Given the description of an element on the screen output the (x, y) to click on. 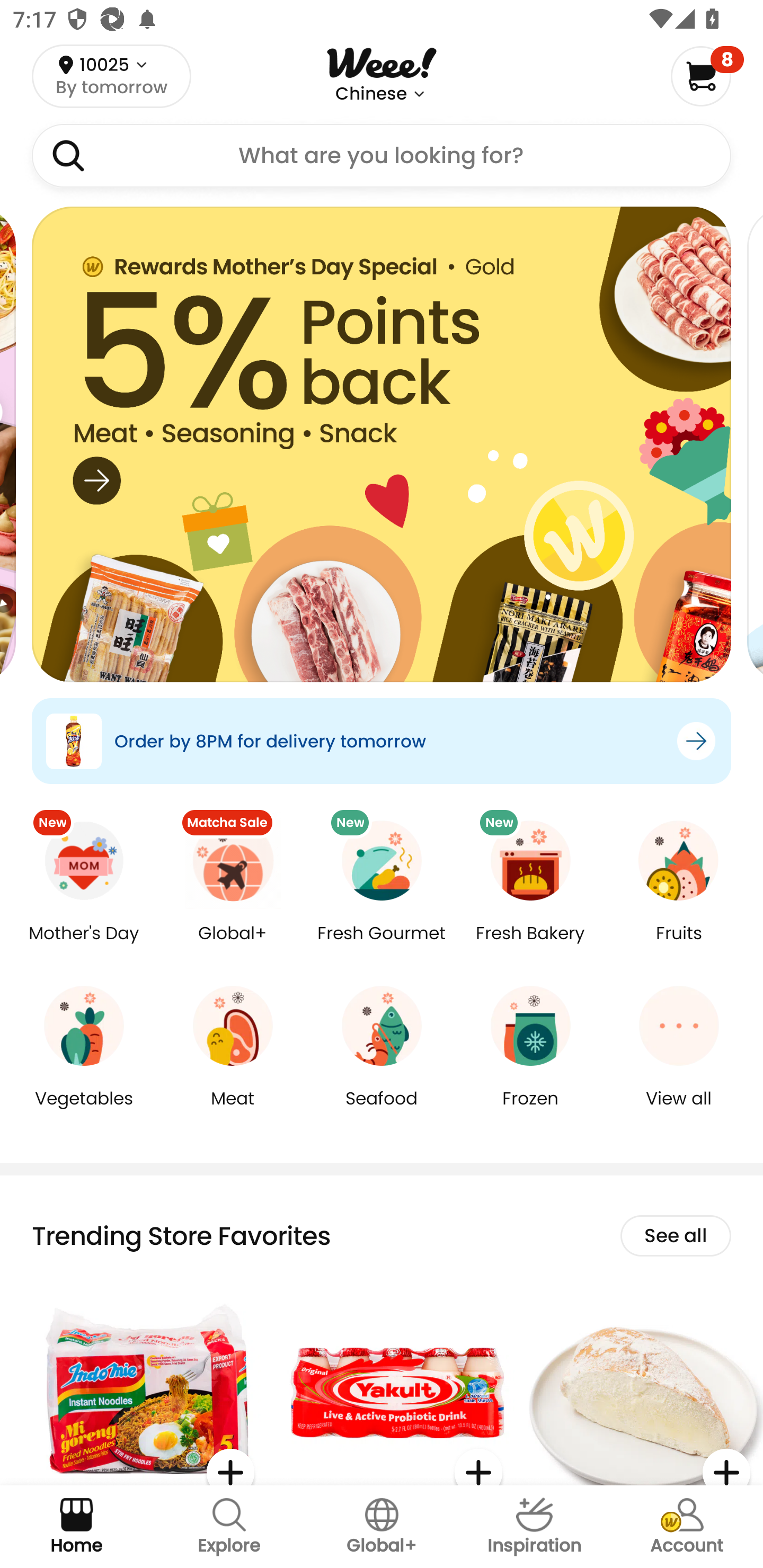
10025 By tomorrow (111, 75)
8 (706, 75)
Chinese (370, 93)
What are you looking for? (381, 155)
Order by 8PM for delivery tomorrow (381, 740)
Mother's Day (83, 946)
Global+ (232, 946)
Fresh Gourmet (381, 946)
Fresh Bakery (530, 946)
Fruits (678, 946)
